Given the description of an element on the screen output the (x, y) to click on. 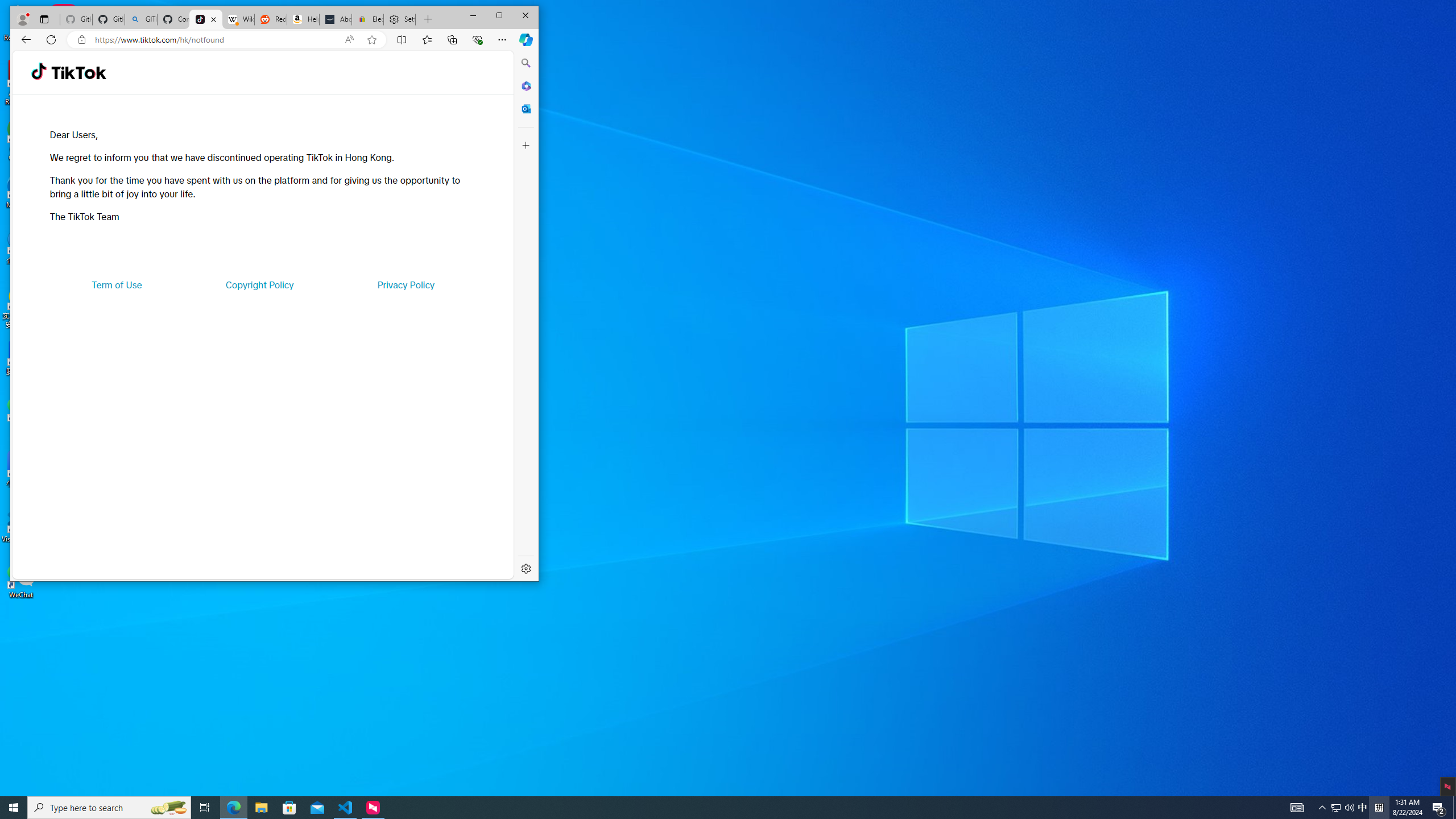
File Explorer (261, 807)
Maximize (499, 15)
Notification Chevron (1322, 807)
Tray Input Indicator - Chinese (Simplified, China) (1378, 807)
Help & Contact Us - Amazon Customer Service (303, 19)
Electronics, Cars, Fashion, Collectibles & More | eBay (367, 19)
